Given the description of an element on the screen output the (x, y) to click on. 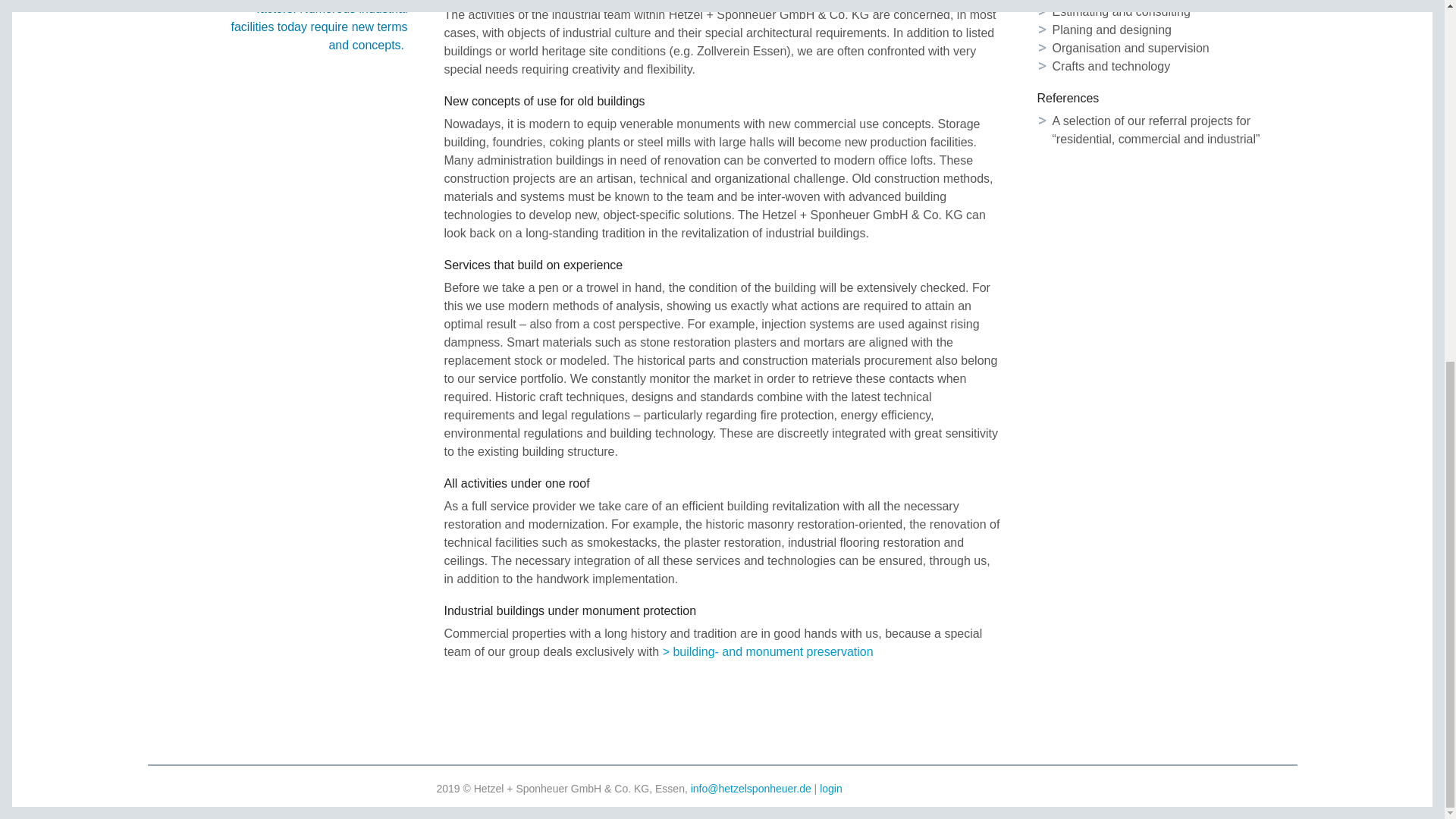
Crafts and technology (1111, 65)
building- and monument preservation (767, 651)
Organisation and supervision (1130, 47)
Planing and designing (1112, 29)
Estimating and consulting (1121, 11)
